Given the description of an element on the screen output the (x, y) to click on. 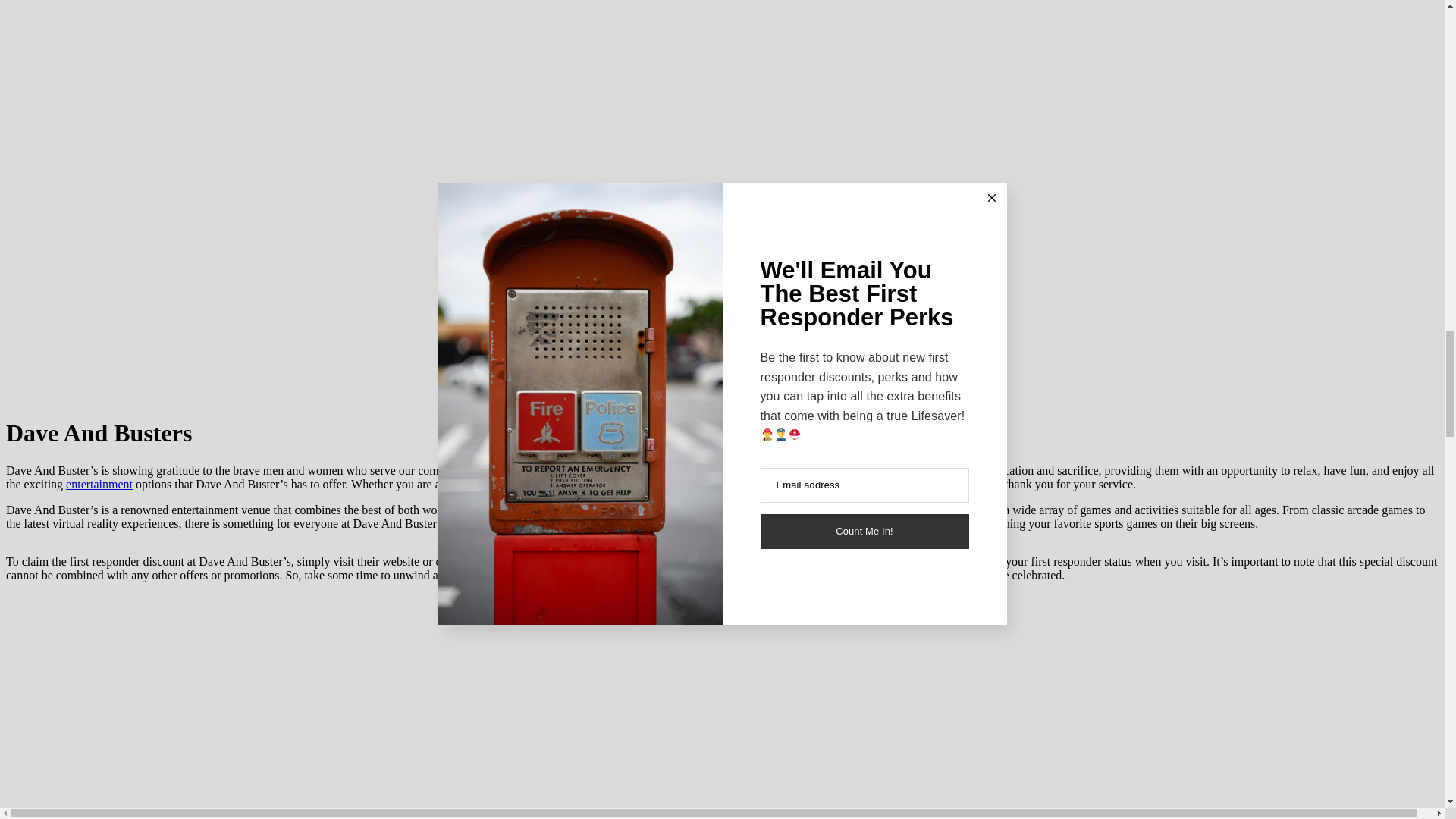
entertainment (98, 483)
